Given the description of an element on the screen output the (x, y) to click on. 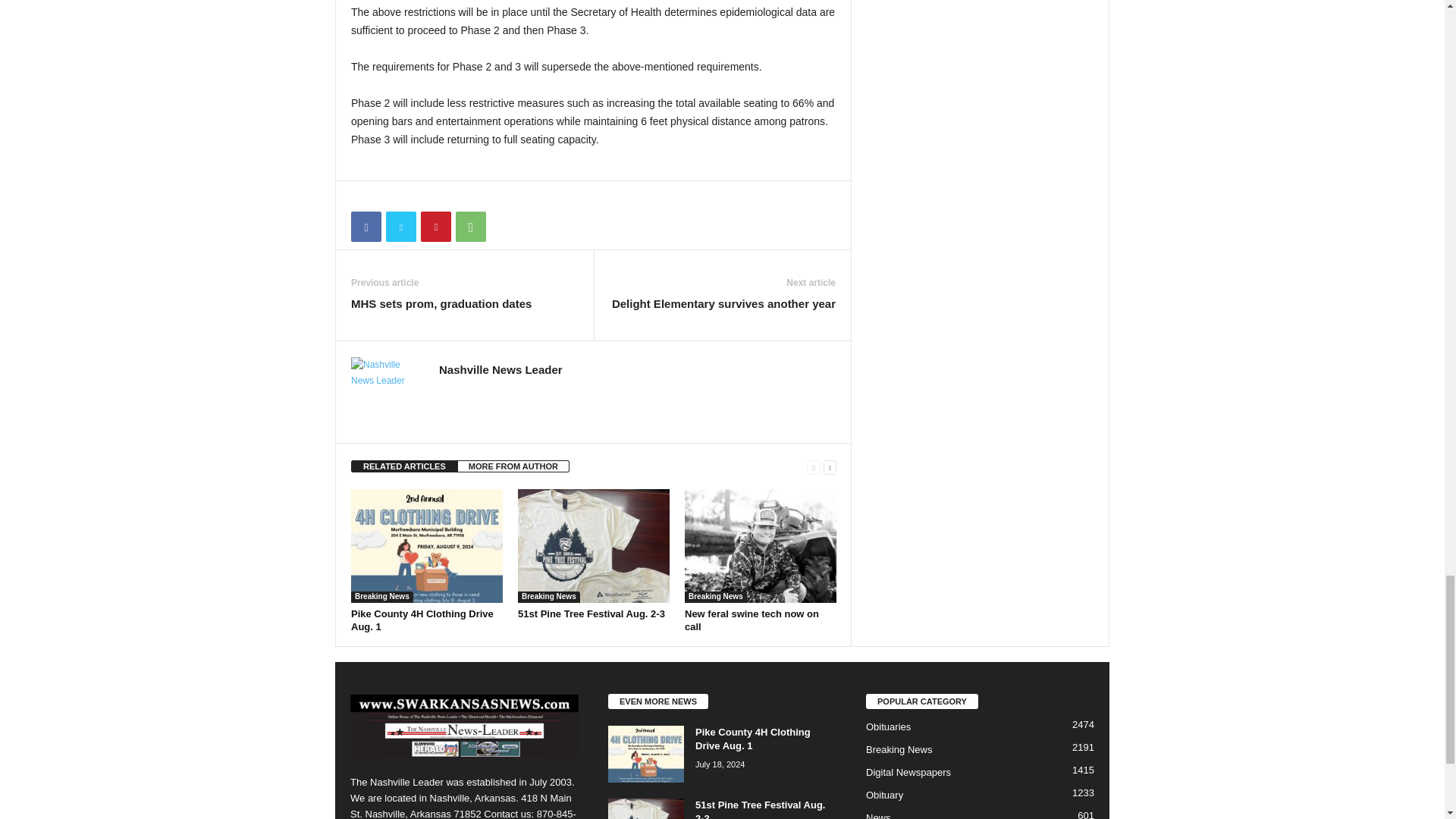
WhatsApp (470, 226)
Twitter (400, 226)
Pinterest (435, 226)
Facebook (365, 226)
bottomFacebookLike (390, 196)
